Given the description of an element on the screen output the (x, y) to click on. 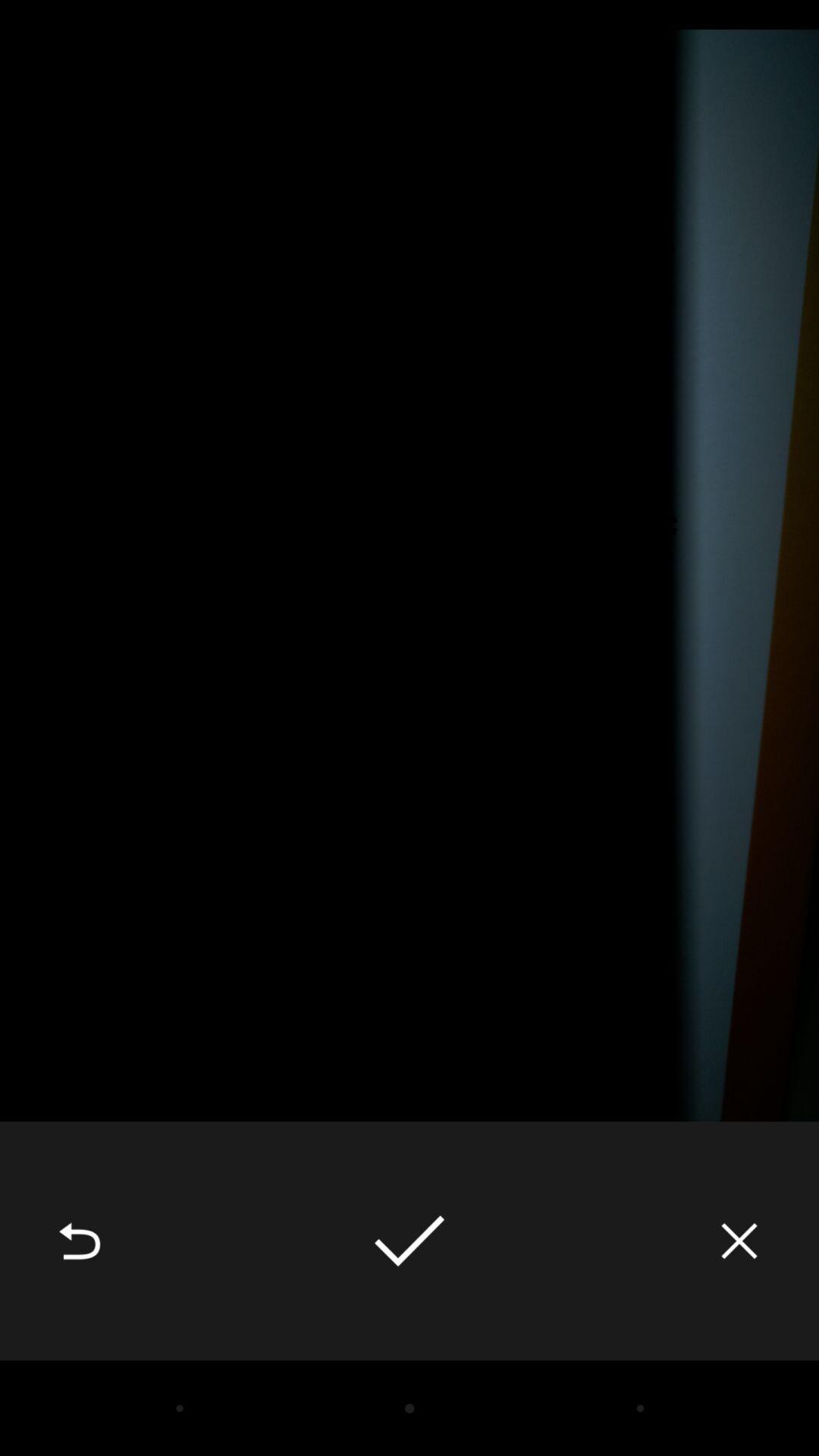
open the icon at the bottom left corner (79, 1240)
